Given the description of an element on the screen output the (x, y) to click on. 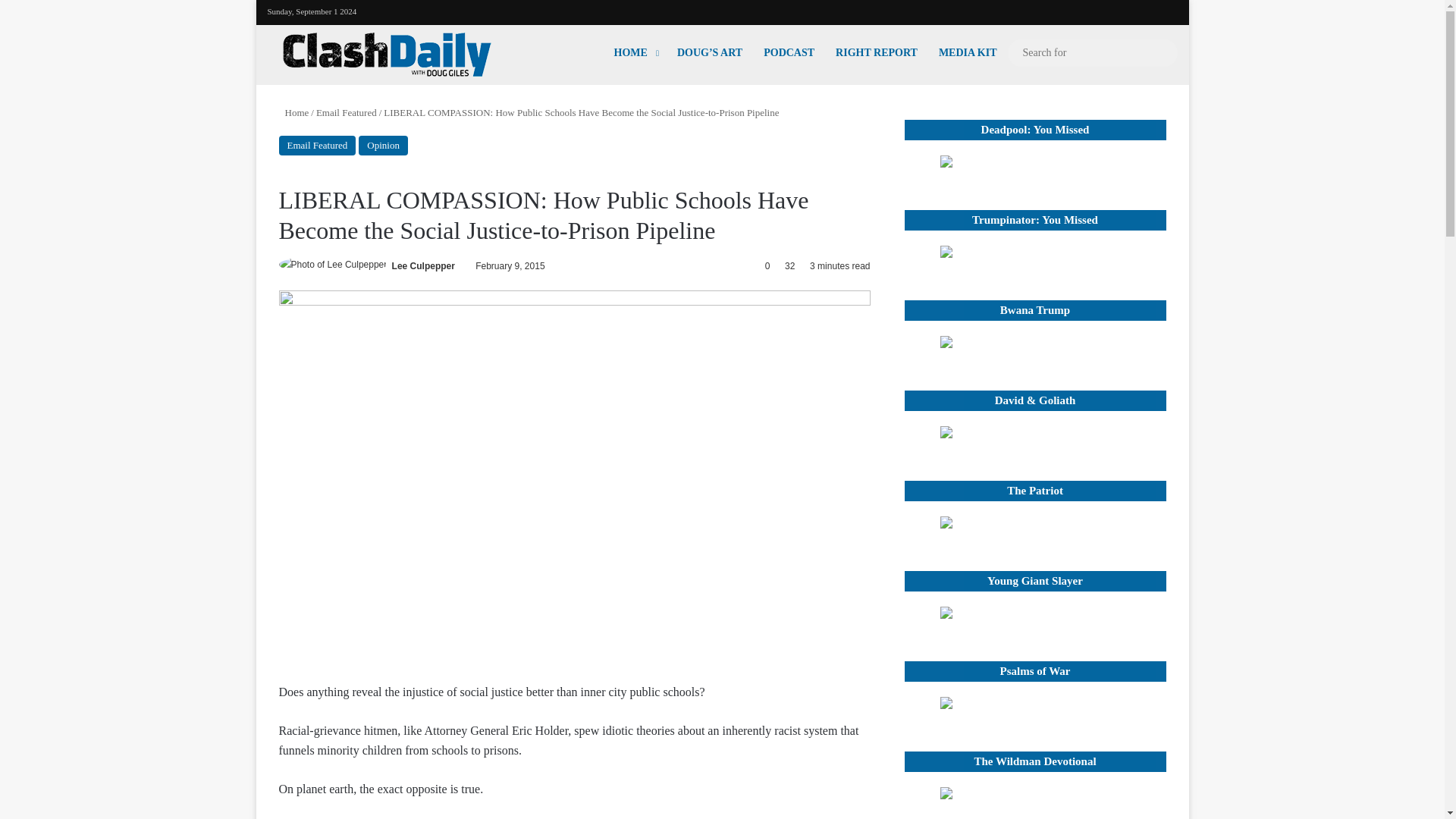
Facebook (1075, 9)
Email Featured (346, 112)
Search for (1091, 52)
YouTube (1097, 9)
MeWe (1143, 9)
Parler (1165, 9)
MEDIA KIT (967, 52)
Home (293, 112)
Lee Culpepper (422, 266)
Clash Daily (386, 53)
